Given the description of an element on the screen output the (x, y) to click on. 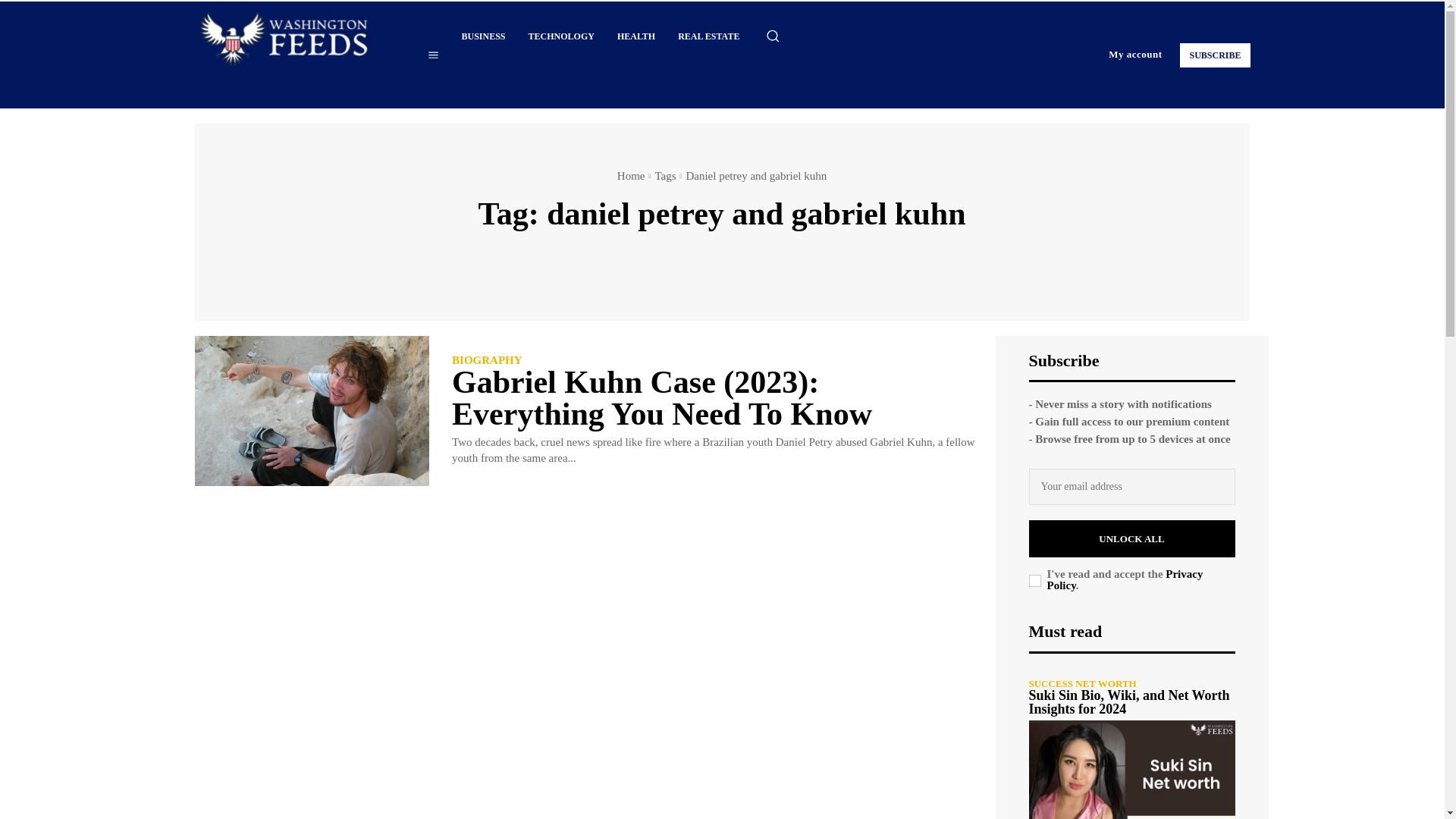
Home (631, 175)
HEALTH (635, 35)
SUCCESS NET WORTH (1081, 683)
Suki Sin Bio, Wiki, and Net Worth Insights for 2024 (1130, 769)
UNLOCK ALL (1130, 538)
TECHNOLOGY (560, 35)
REAL ESTATE (708, 35)
BUSINESS (482, 35)
Privacy Policy (1124, 579)
BIOGRAPHY (486, 360)
Suki Sin Bio, Wiki, and Net Worth Insights for 2024 (1127, 701)
Suki Sin Bio, Wiki, and Net Worth Insights for 2024 (1127, 701)
SUBSCRIBE (1214, 54)
